Given the description of an element on the screen output the (x, y) to click on. 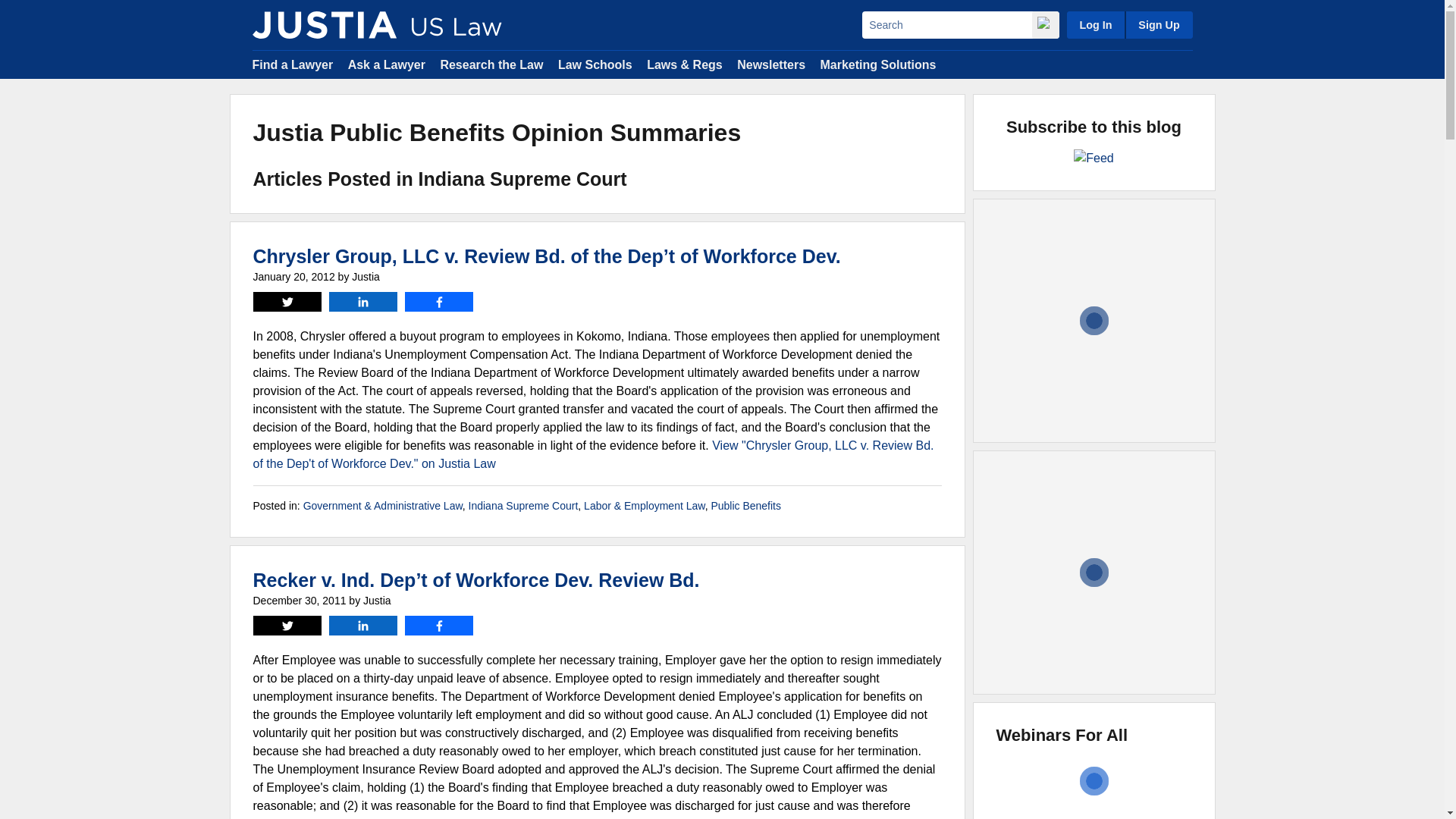
Feed (1093, 158)
Law Schools (594, 64)
Log In (1094, 24)
Search (945, 24)
Ask a Lawyer (386, 64)
Sign Up (1158, 24)
Marketing Solutions (877, 64)
View all posts in Indiana Supreme Court (523, 505)
View all posts in Public Benefits (745, 505)
Public Benefits (745, 505)
